Given the description of an element on the screen output the (x, y) to click on. 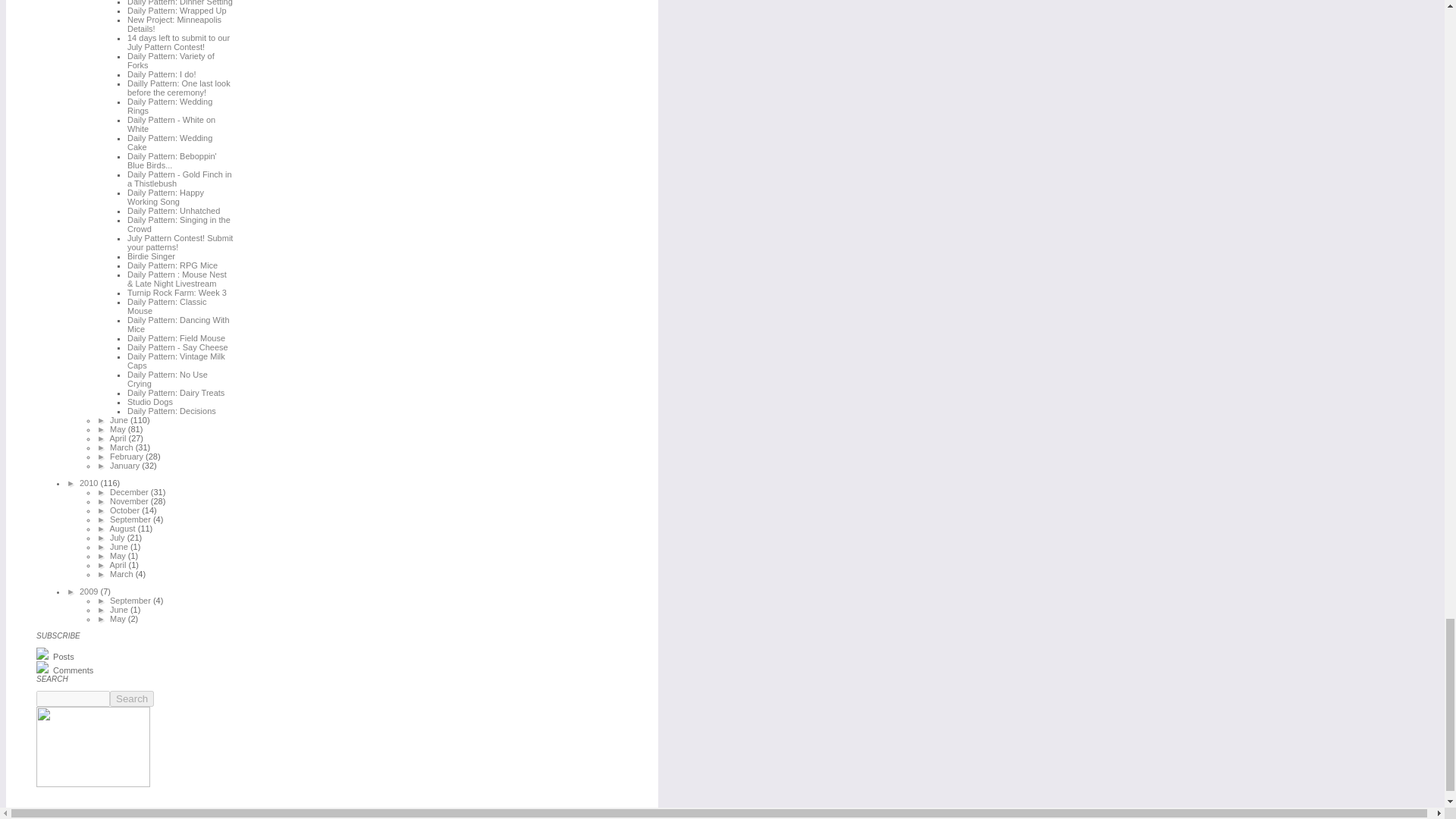
Search (132, 698)
search (132, 698)
Search (132, 698)
search (73, 698)
